Given the description of an element on the screen output the (x, y) to click on. 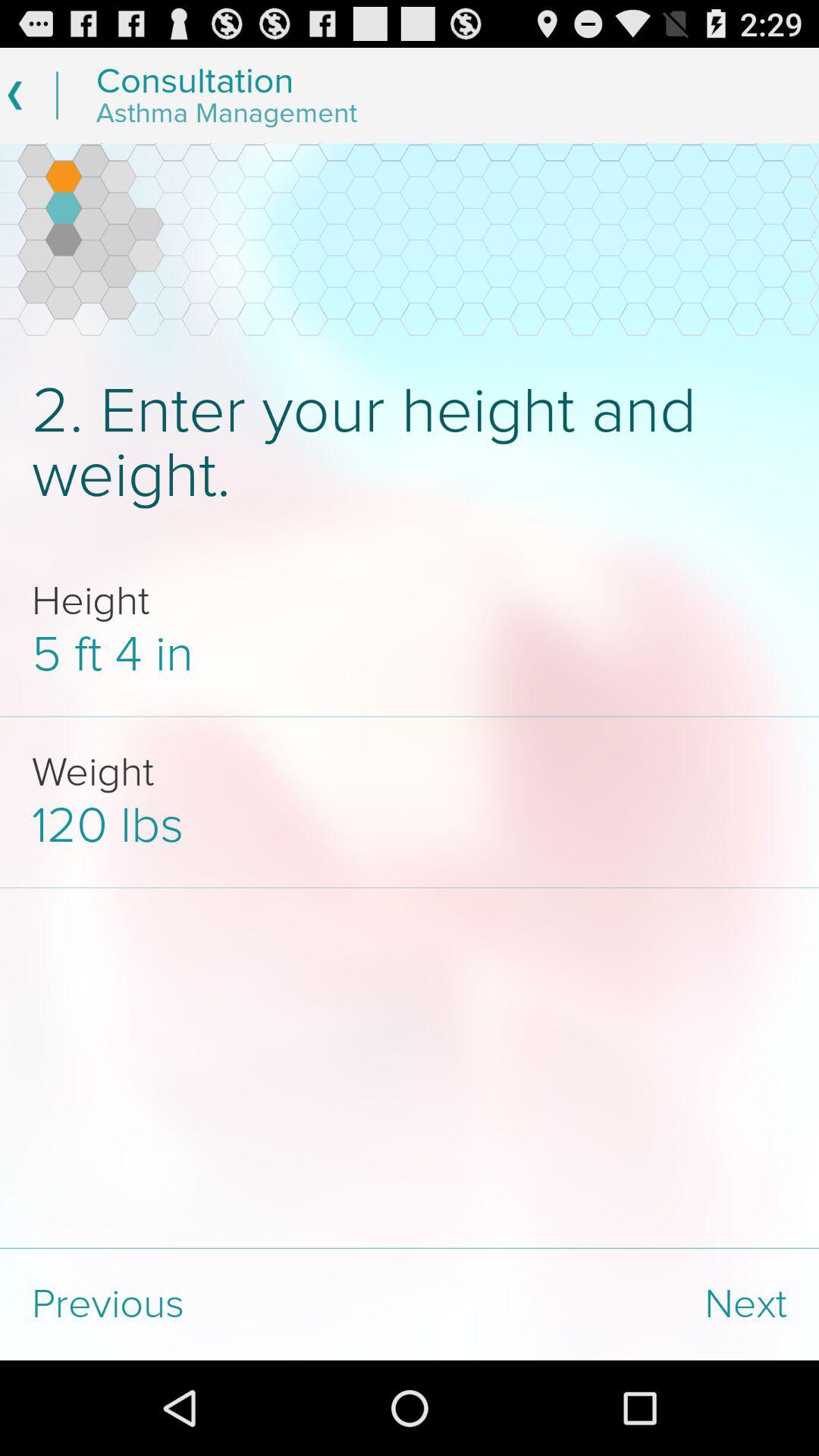
tap item to the right of the previous app (614, 1304)
